Given the description of an element on the screen output the (x, y) to click on. 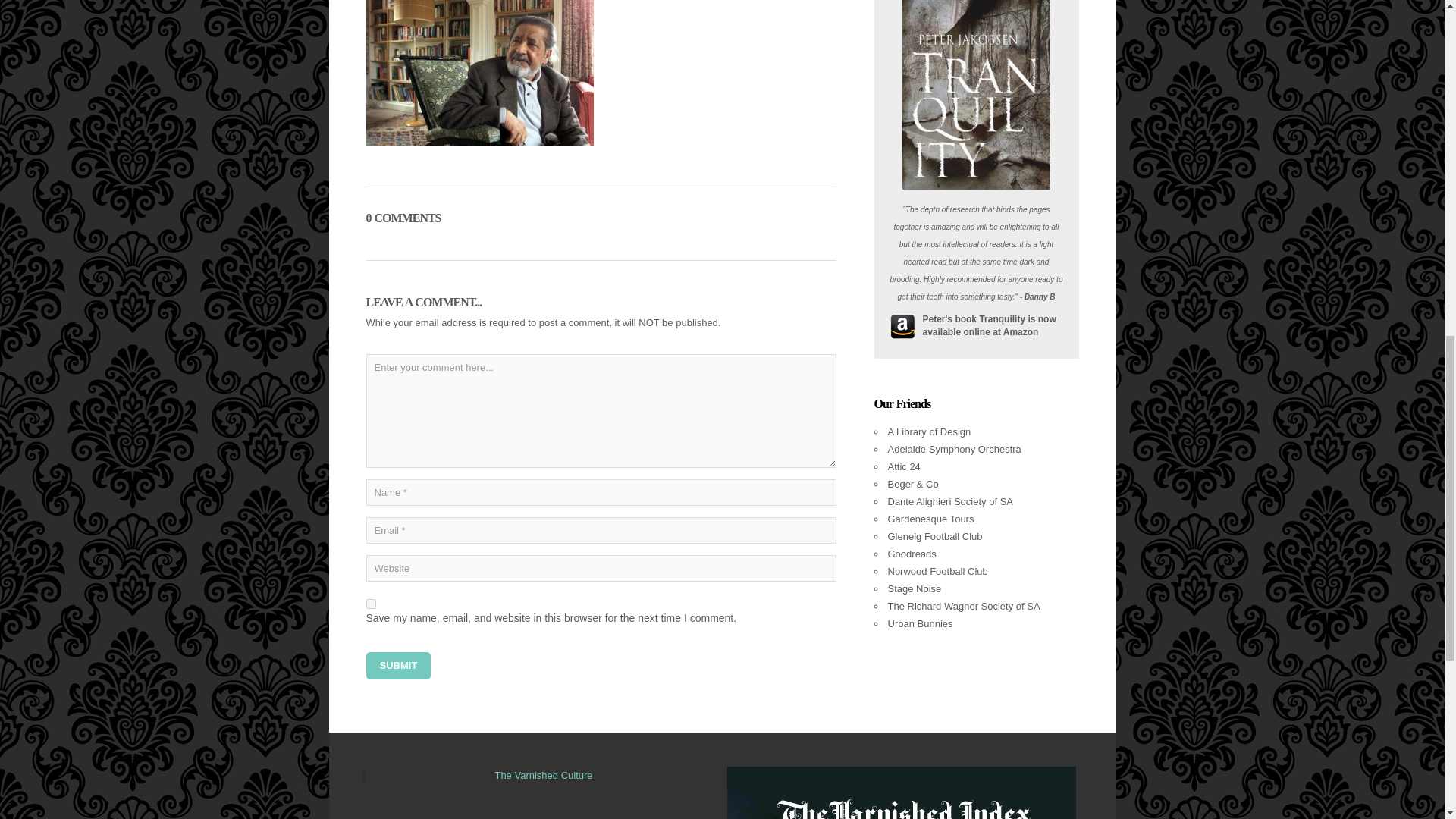
yes (370, 603)
Submit (397, 665)
Submit (397, 665)
